Given the description of an element on the screen output the (x, y) to click on. 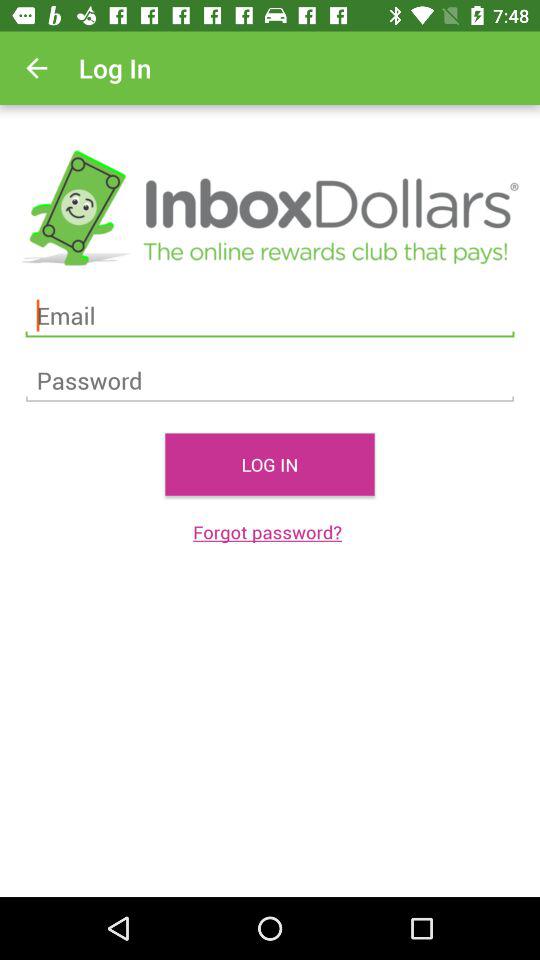
enter password (270, 380)
